Given the description of an element on the screen output the (x, y) to click on. 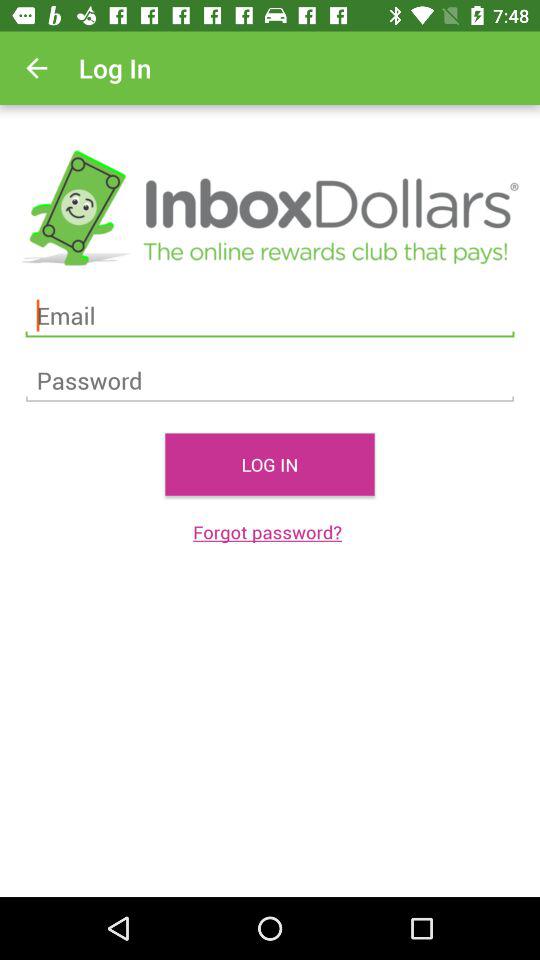
enter password (270, 380)
